Given the description of an element on the screen output the (x, y) to click on. 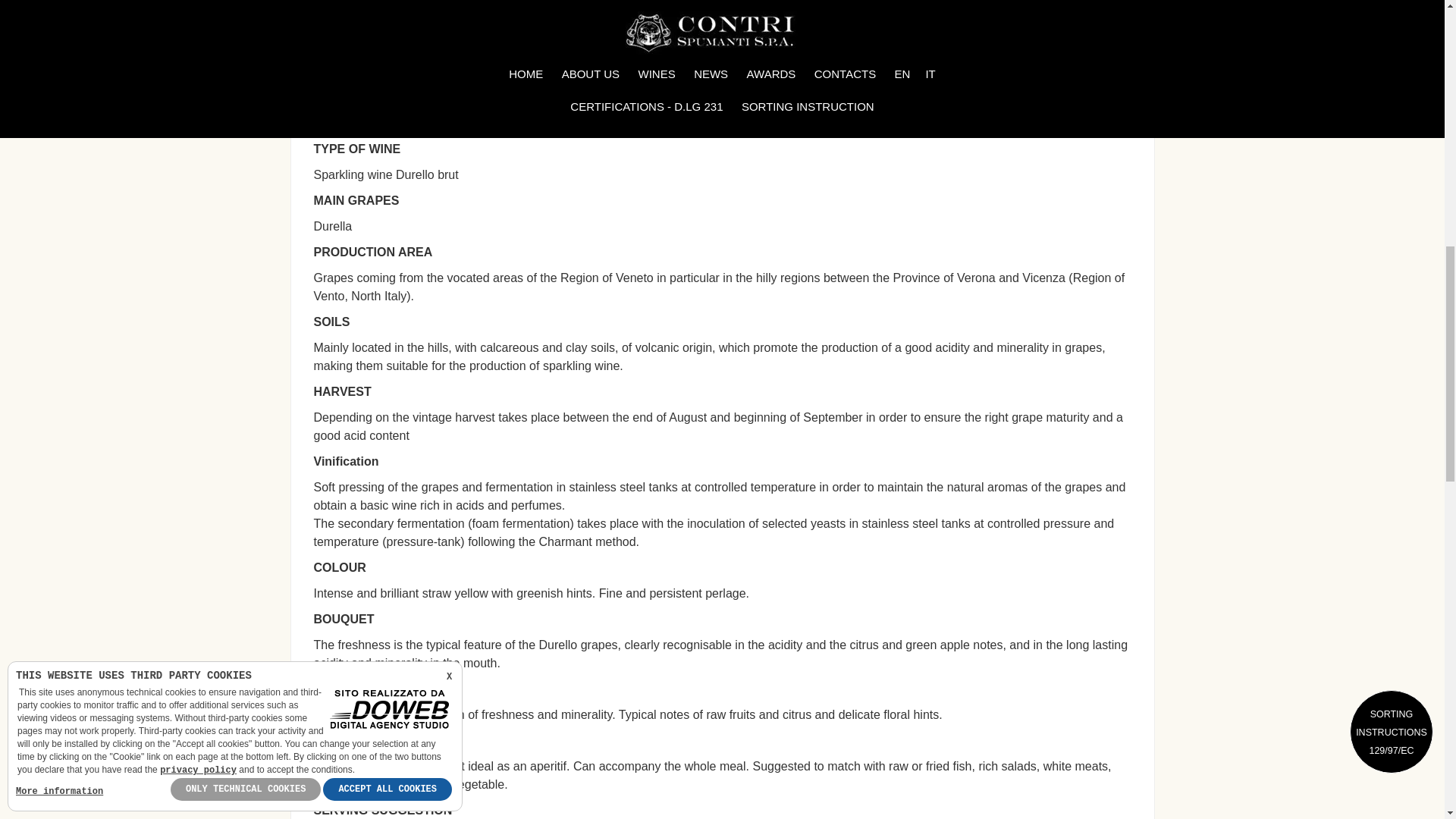
Download PDF (743, 22)
Go back to the wines (868, 22)
